Given the description of an element on the screen output the (x, y) to click on. 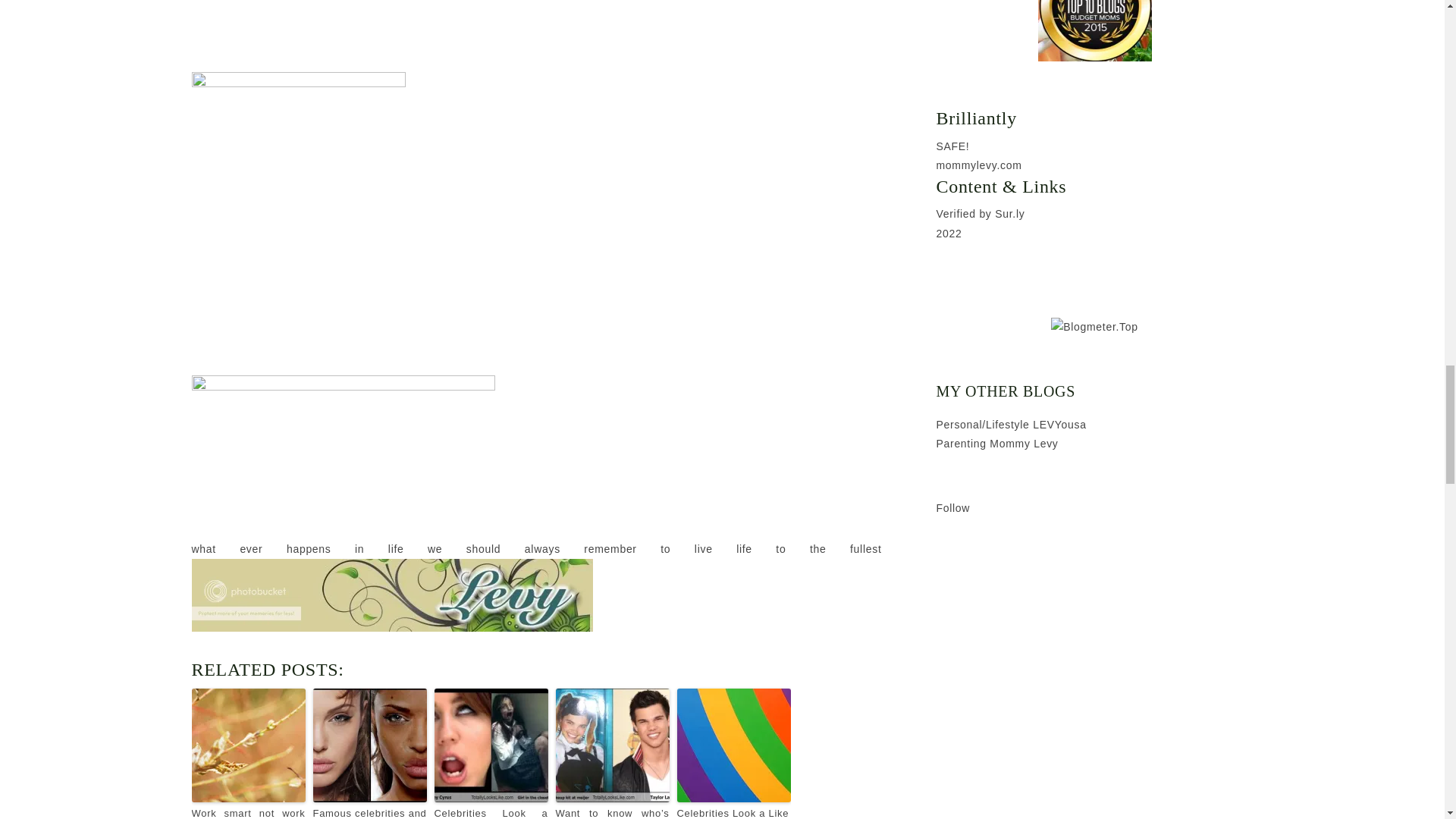
live life to the fullest (788, 548)
